Given the description of an element on the screen output the (x, y) to click on. 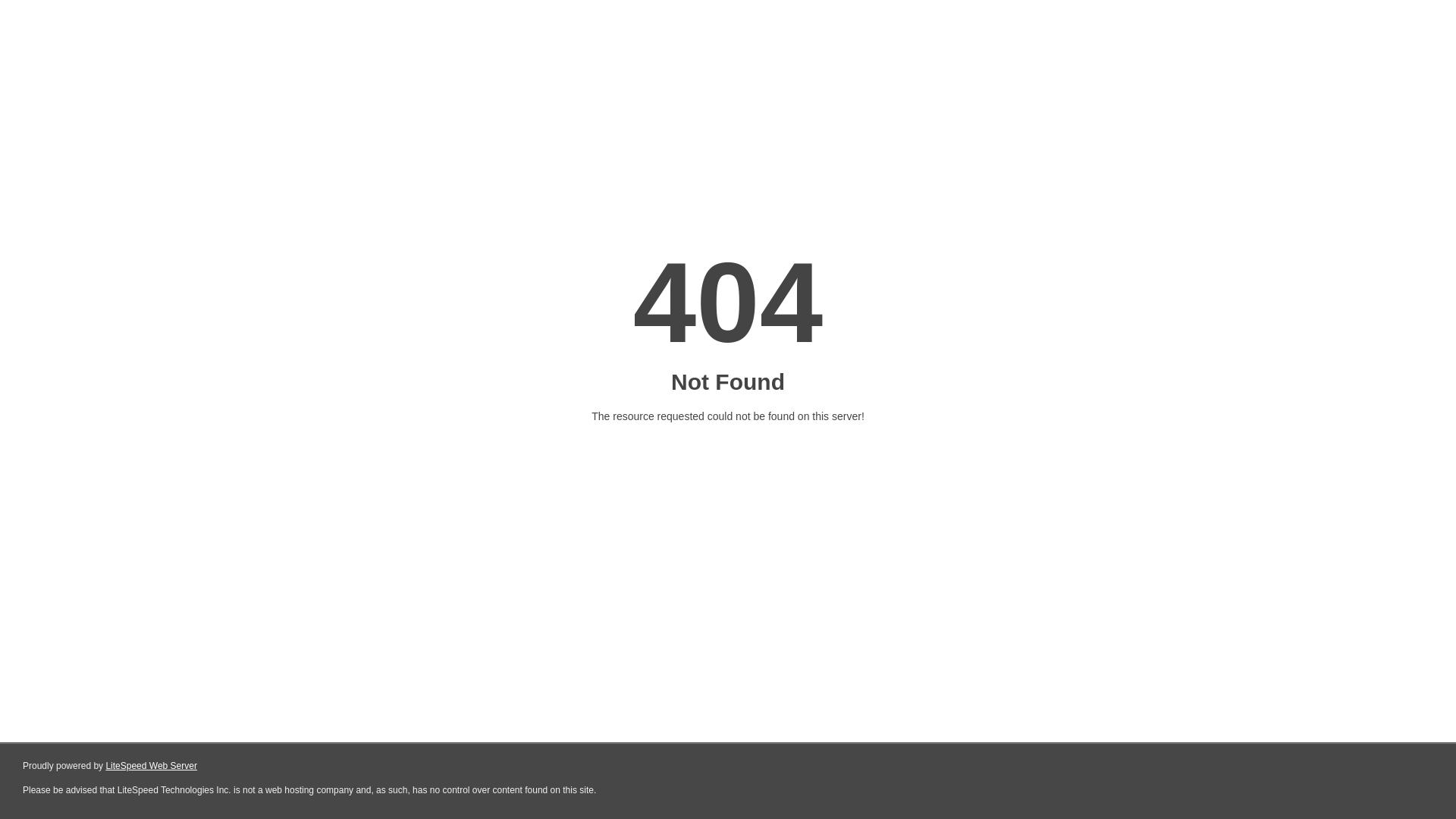
LiteSpeed Web Server Element type: text (151, 765)
